Given the description of an element on the screen output the (x, y) to click on. 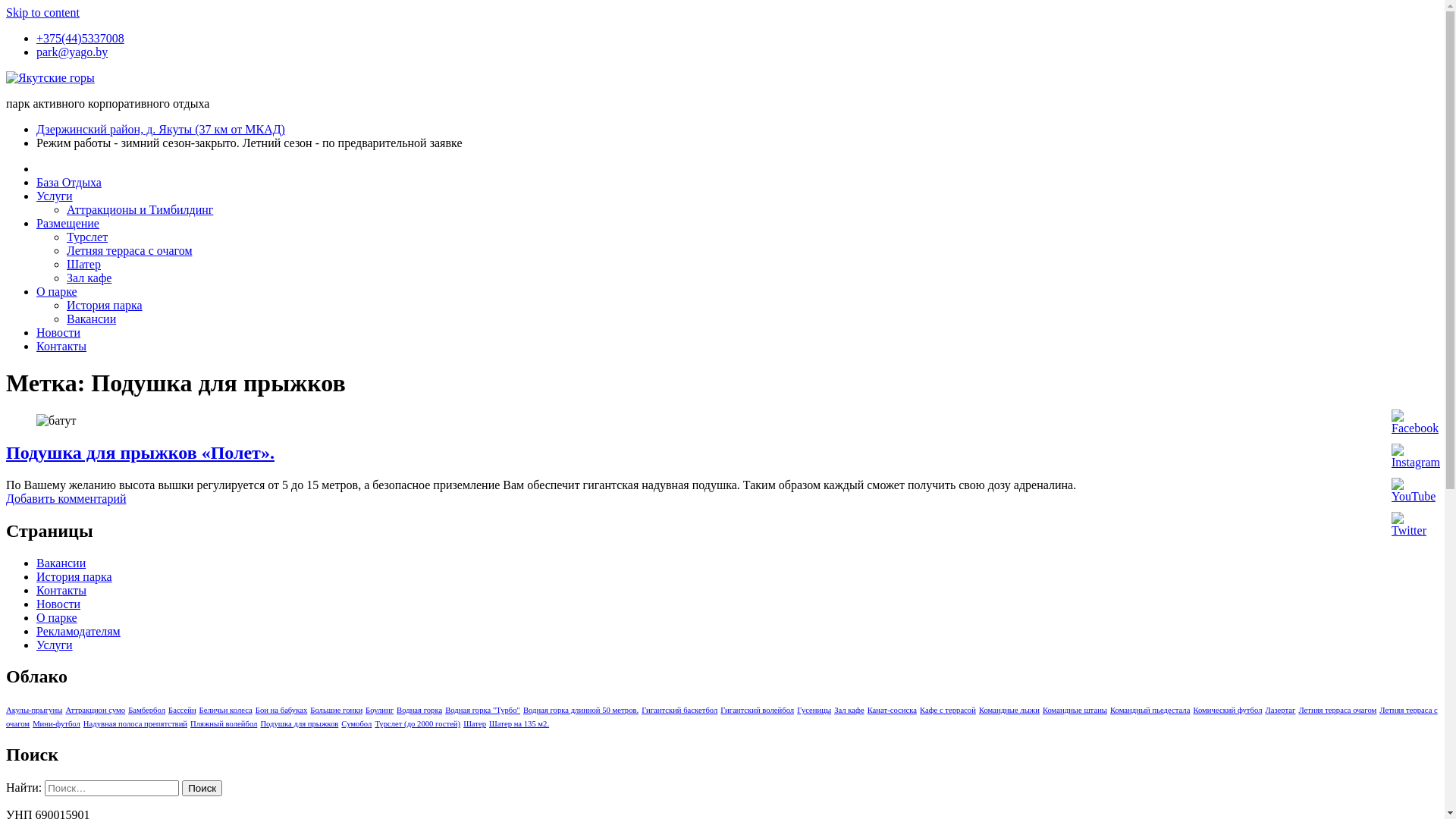
park@yago.by Element type: text (71, 51)
YouTube Element type: hover (1413, 490)
Skip to content Element type: text (42, 12)
Twitter Element type: hover (1408, 524)
+375(44)5337008 Element type: text (80, 37)
Instagram Element type: hover (1415, 456)
Facebook Element type: hover (1414, 422)
